Given the description of an element on the screen output the (x, y) to click on. 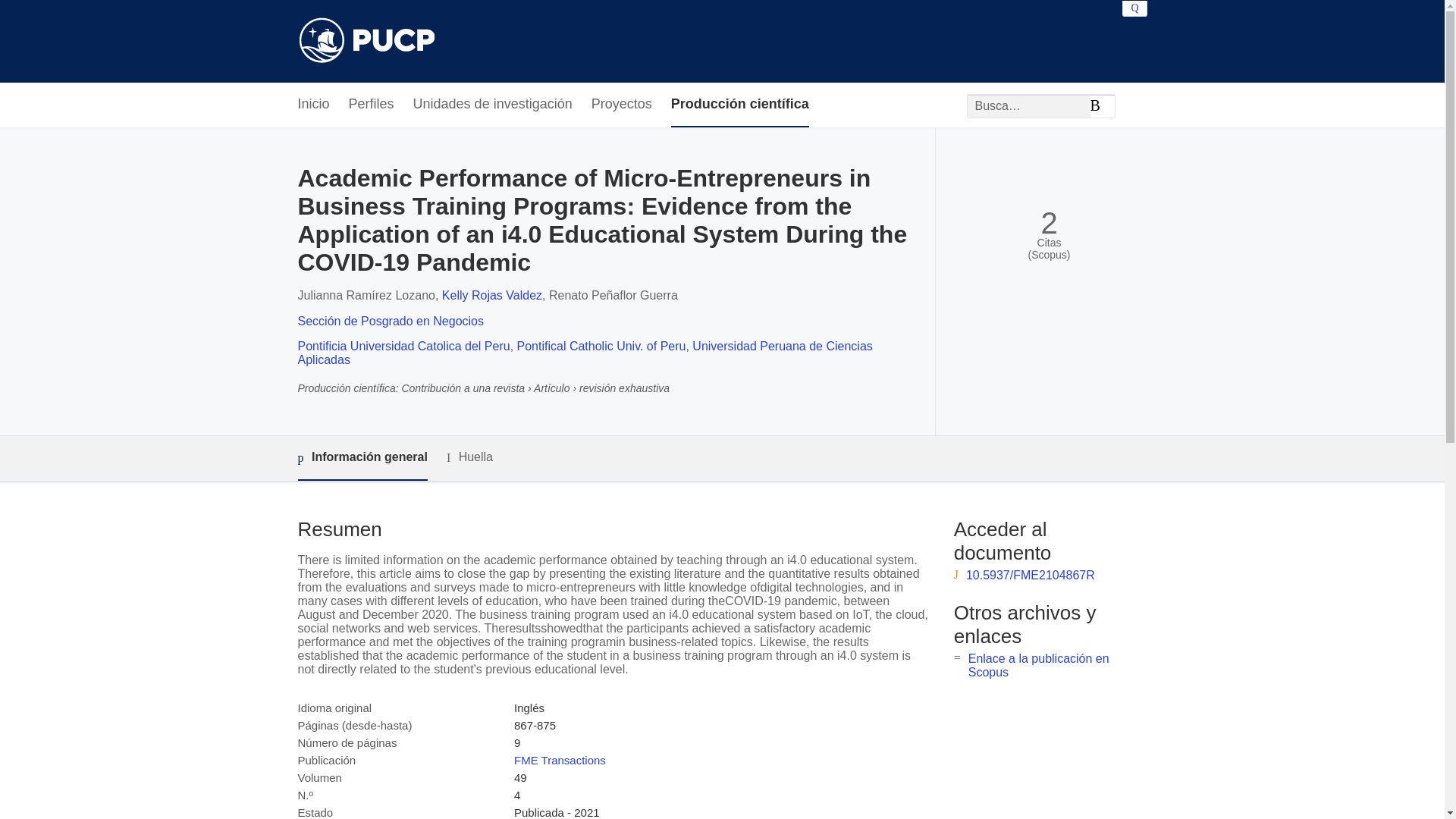
Perfiles (371, 104)
Huella (469, 457)
FME Transactions (559, 759)
Pontifical Catholic Univ. of Peru (600, 345)
Universidad Peruana de Ciencias Aplicadas (584, 352)
Proyectos (621, 104)
Pontificia Universidad Catolica del Peru (403, 345)
Kelly Rojas Valdez (491, 295)
